Given the description of an element on the screen output the (x, y) to click on. 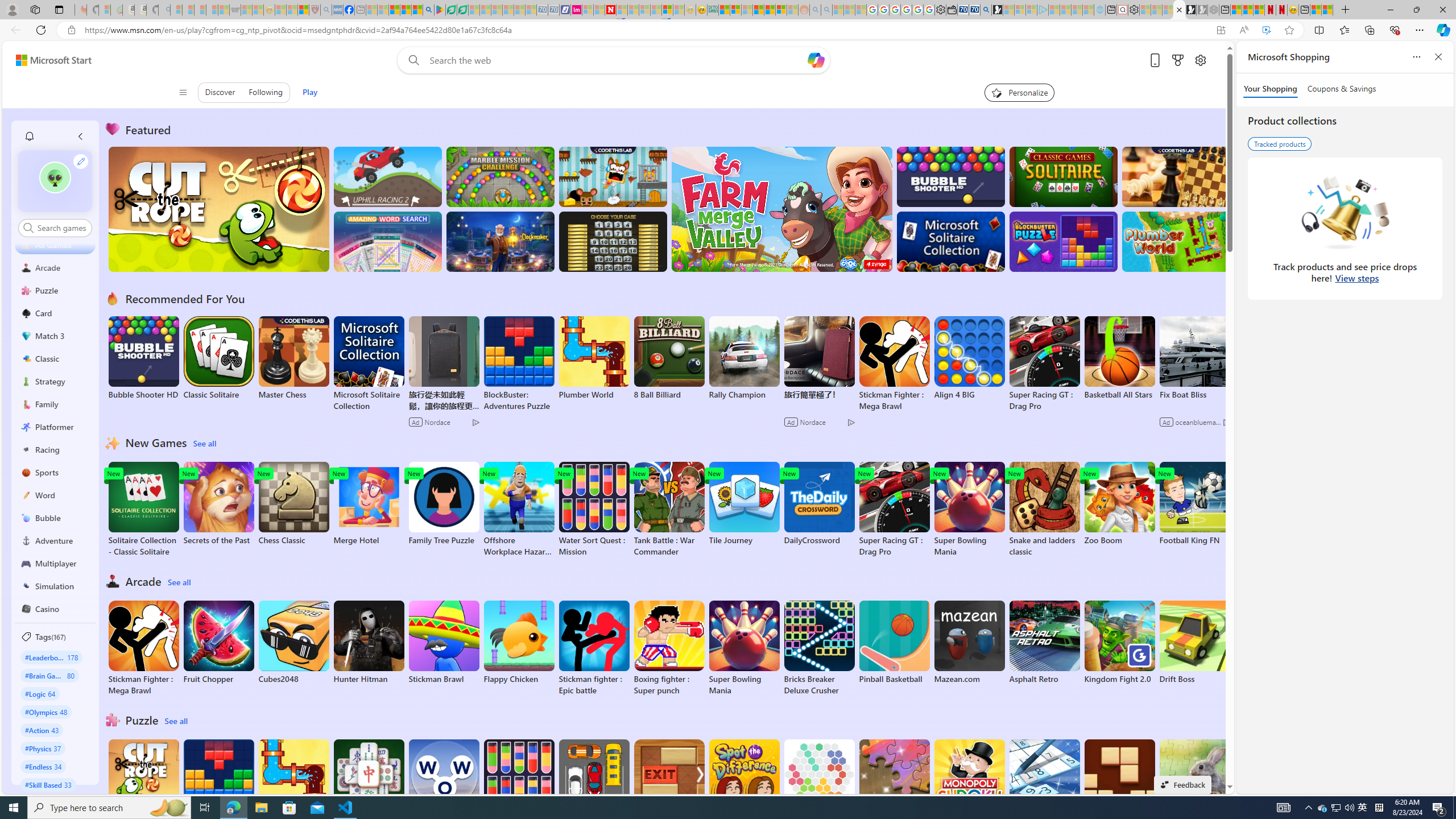
Class: search-icon (28, 227)
Offshore Workplace Hazard Game (518, 509)
#Brain Games 80 (49, 675)
""'s avatar (55, 177)
